Given the description of an element on the screen output the (x, y) to click on. 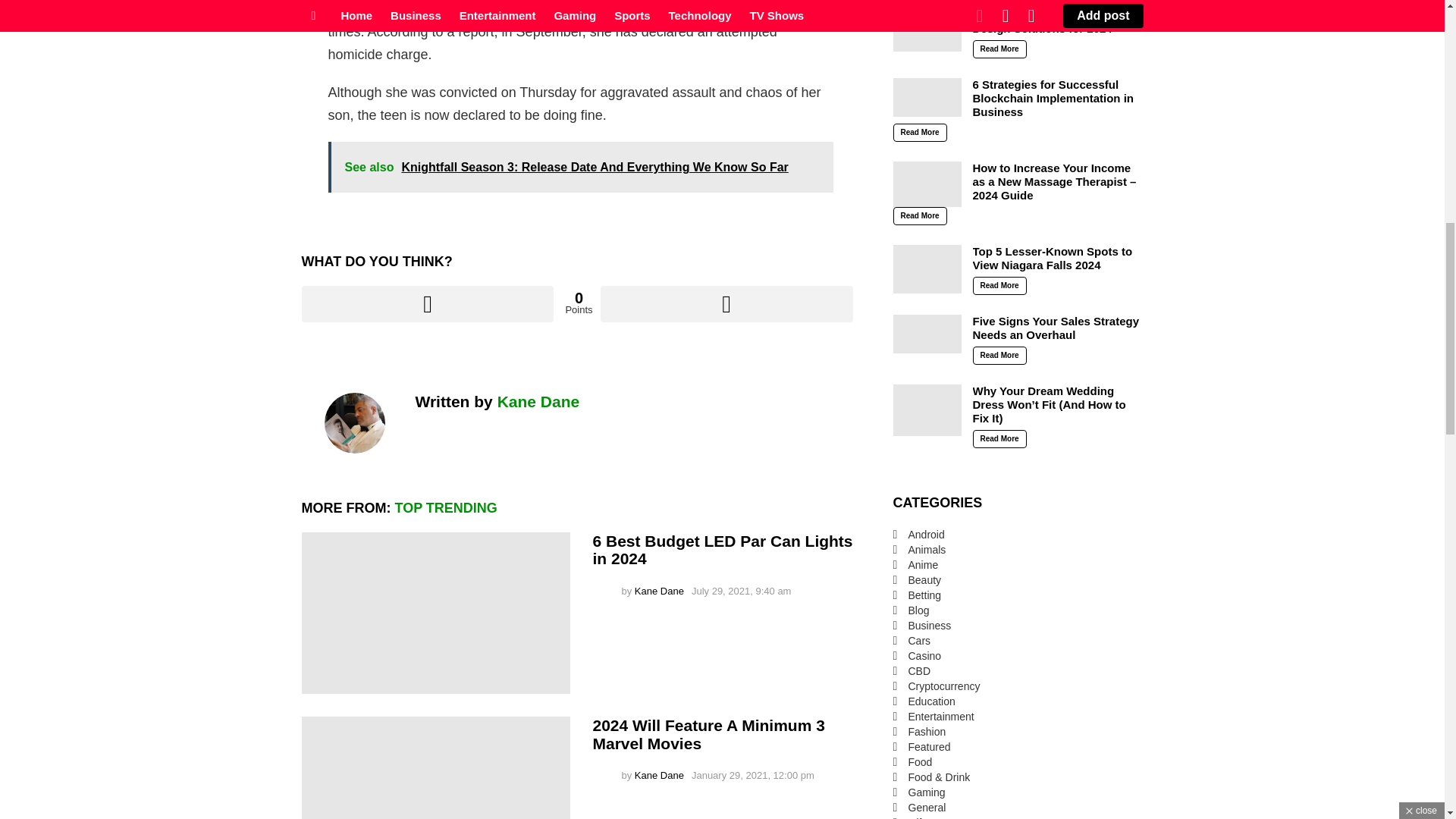
Downvote (726, 303)
2024 Will Feature A Minimum 3 Marvel Movies (435, 767)
Downvote (726, 303)
6 Best Budget LED Par Can Lights in 2024 (722, 550)
6 Best Budget LED Par Can Lights in 2024 (435, 612)
TOP TRENDING (445, 507)
Posts by Kane Dane (659, 591)
Kane Dane (538, 401)
Upvote (427, 303)
Upvote (427, 303)
Posts by Kane Dane (659, 775)
